Given the description of an element on the screen output the (x, y) to click on. 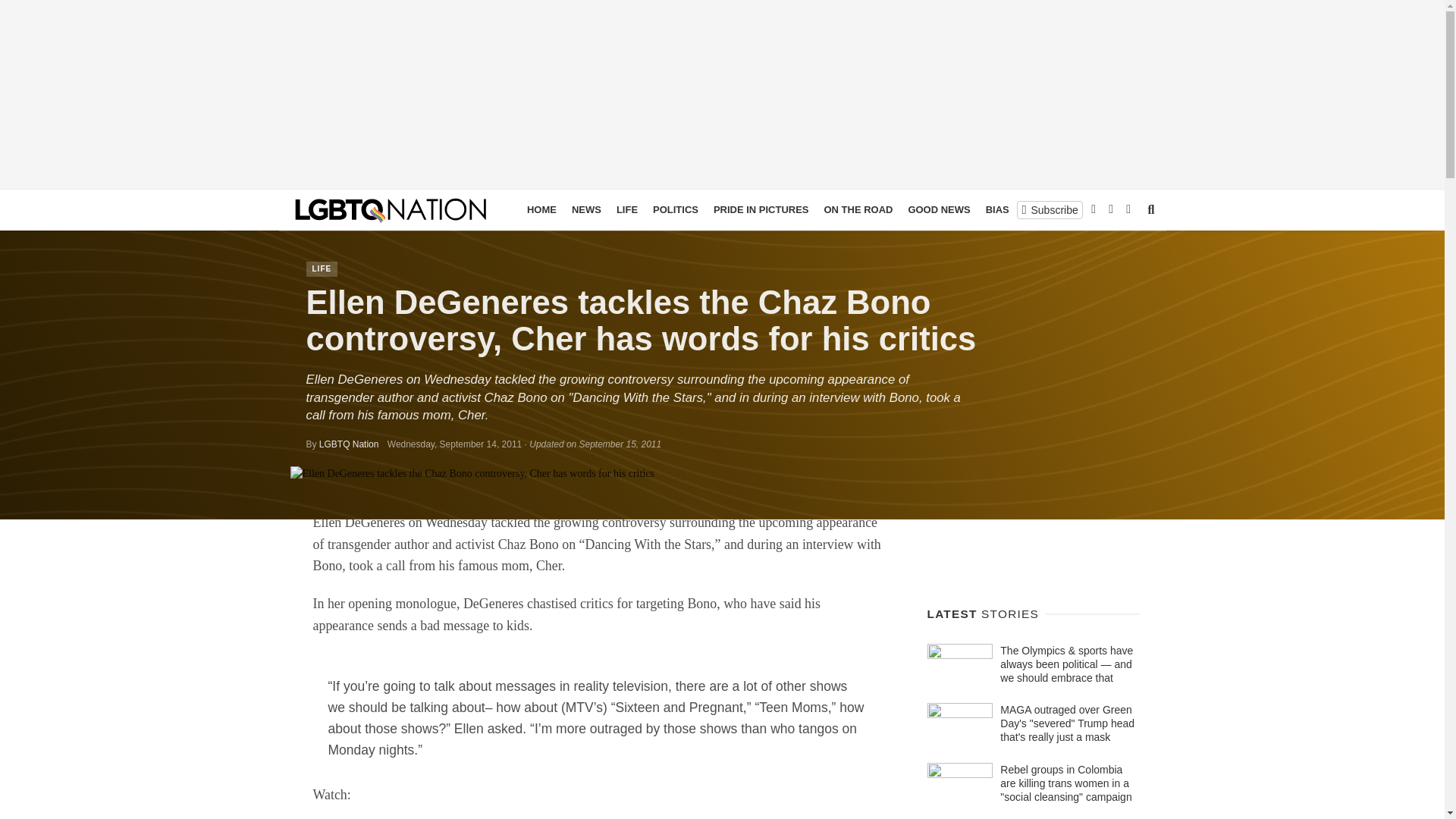
POLITICS (675, 209)
LIFE (321, 268)
Subscribe (1049, 209)
Wednesday, September 14, 2011 pm30 20:00:55 (454, 443)
PRIDE IN PICTURES (761, 209)
HOME (541, 209)
Posts by LGBTQ Nation (348, 443)
NEWS (586, 209)
LIFE (626, 209)
BIAS WATCH (1016, 209)
GOOD NEWS (937, 209)
COMMENTARY (1097, 209)
LGBTQ Nation (348, 443)
ON THE ROAD (857, 209)
